Given the description of an element on the screen output the (x, y) to click on. 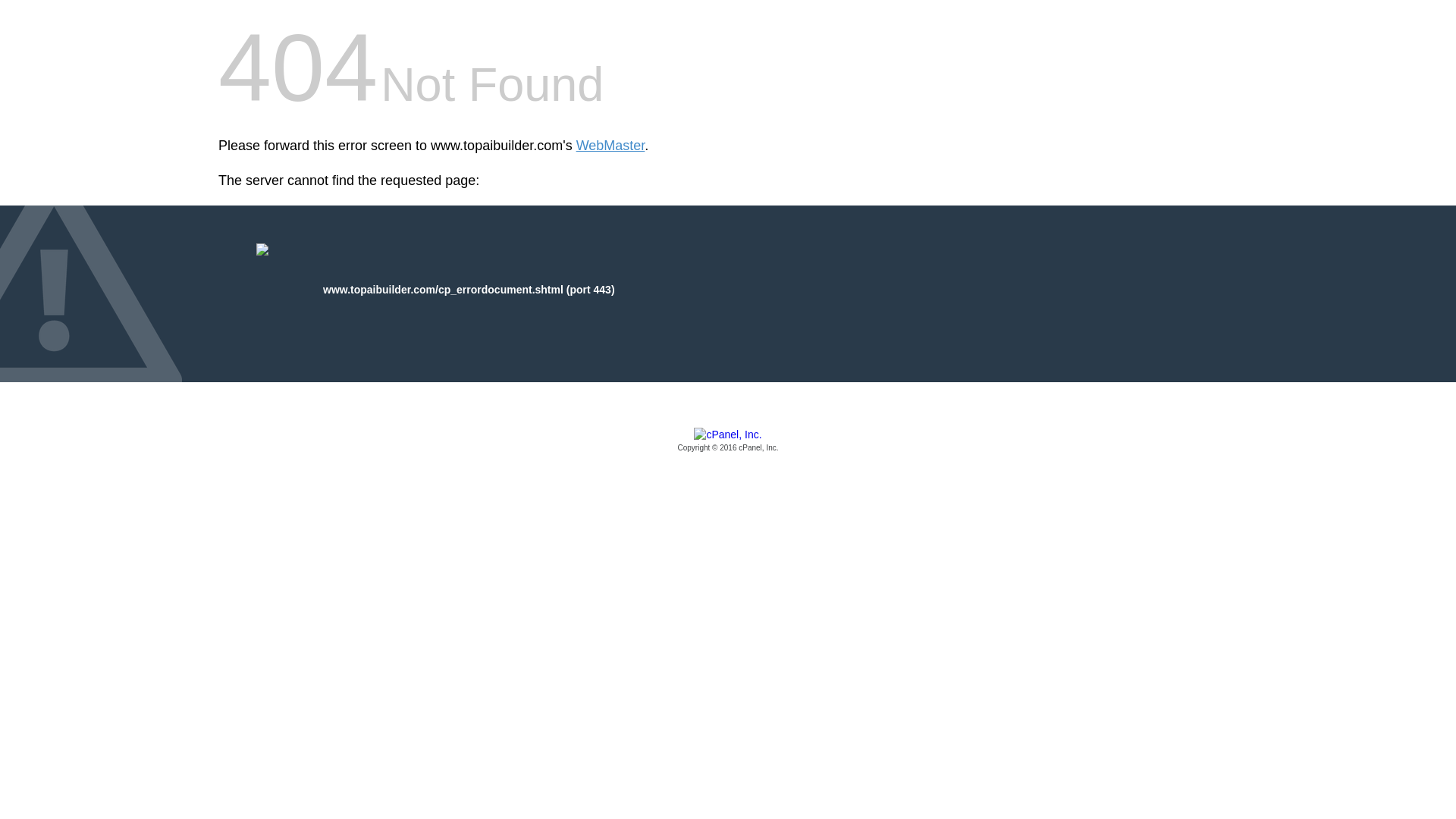
cPanel, Inc. (727, 440)
WebMaster (610, 145)
